Given the description of an element on the screen output the (x, y) to click on. 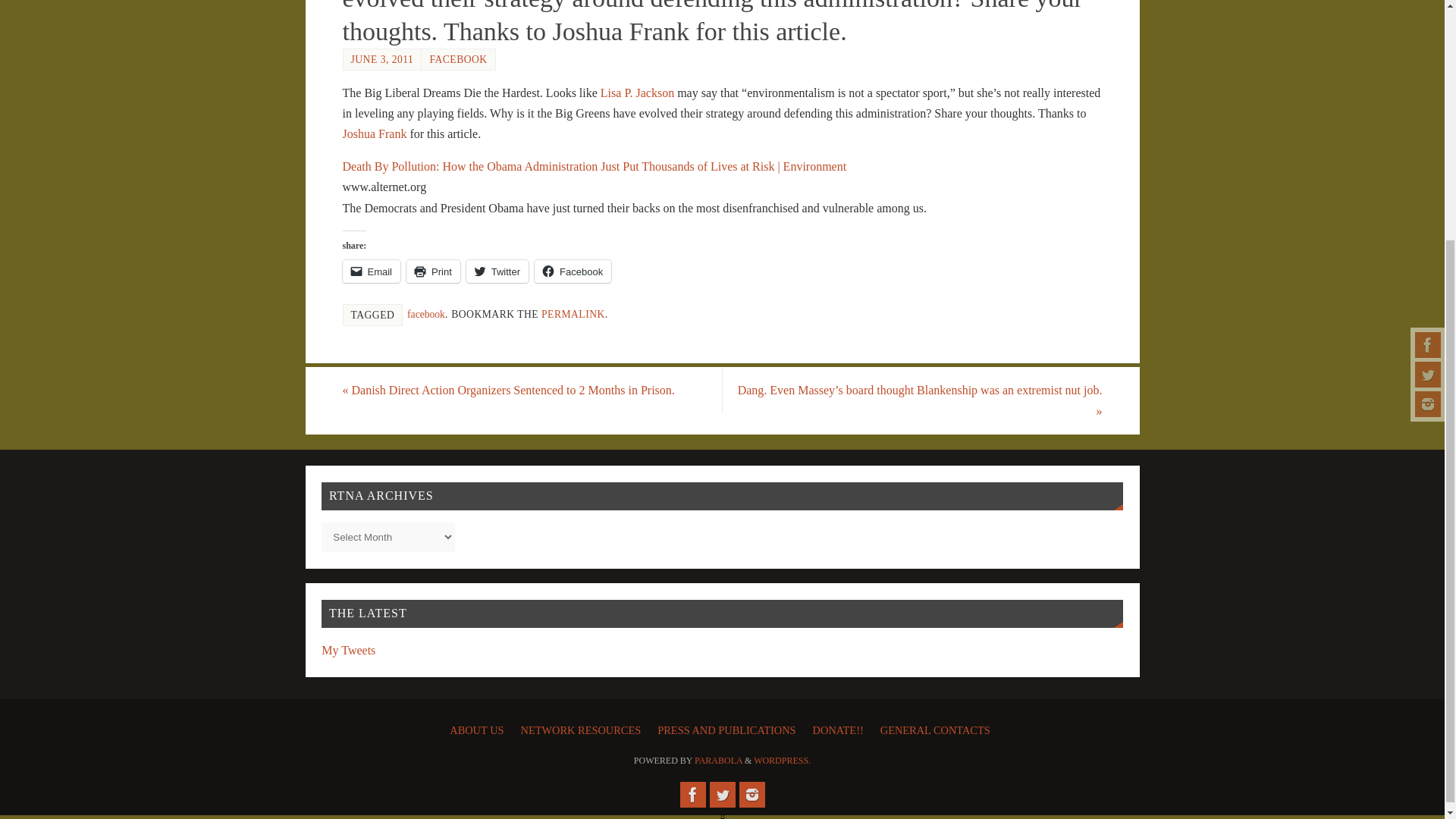
Parabola Theme by Cryout Creations (718, 760)
Semantic Personal Publishing Platform (782, 760)
Facebook (691, 794)
JUNE 3, 2011 (381, 59)
Facebook (1428, 11)
FACEBOOK (457, 59)
Twitter (722, 794)
Click to email a link to a friend (371, 271)
Click to print (433, 271)
Twitter (1428, 40)
Instagram (1428, 69)
Click to share on Facebook (572, 271)
Click to share on Twitter (496, 271)
